Given the description of an element on the screen output the (x, y) to click on. 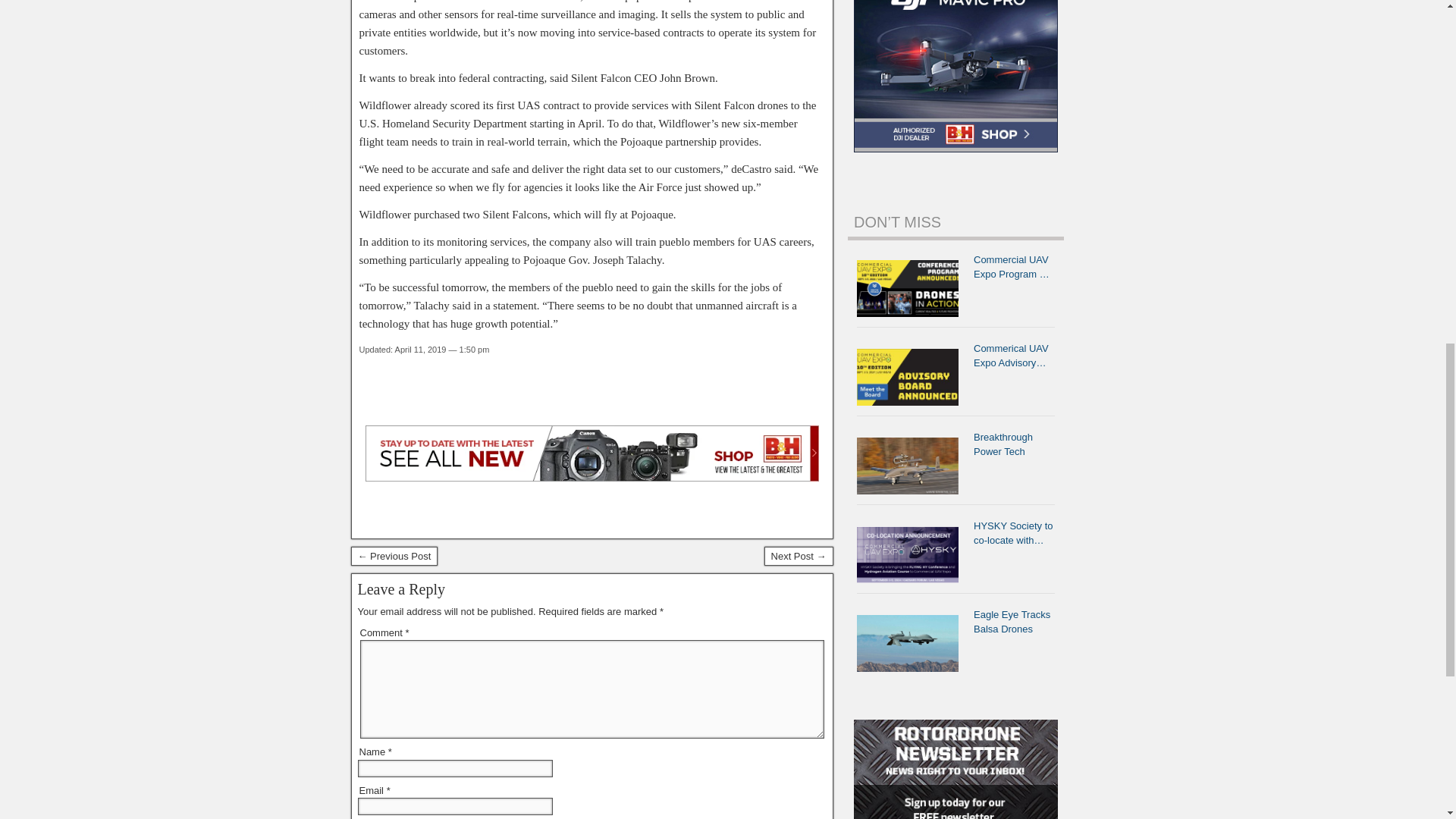
BVLOS Traffic Tests (394, 556)
Breakthrough Power Tech (911, 465)
Eagle Eye Tracks Balsa Drones (911, 642)
Commerical UAV Expo Advisory Board (911, 376)
HYSKY Society to co-locate with Commercial UAV Expo in 2024 (911, 554)
K-State's Free Webinar (798, 556)
